Given the description of an element on the screen output the (x, y) to click on. 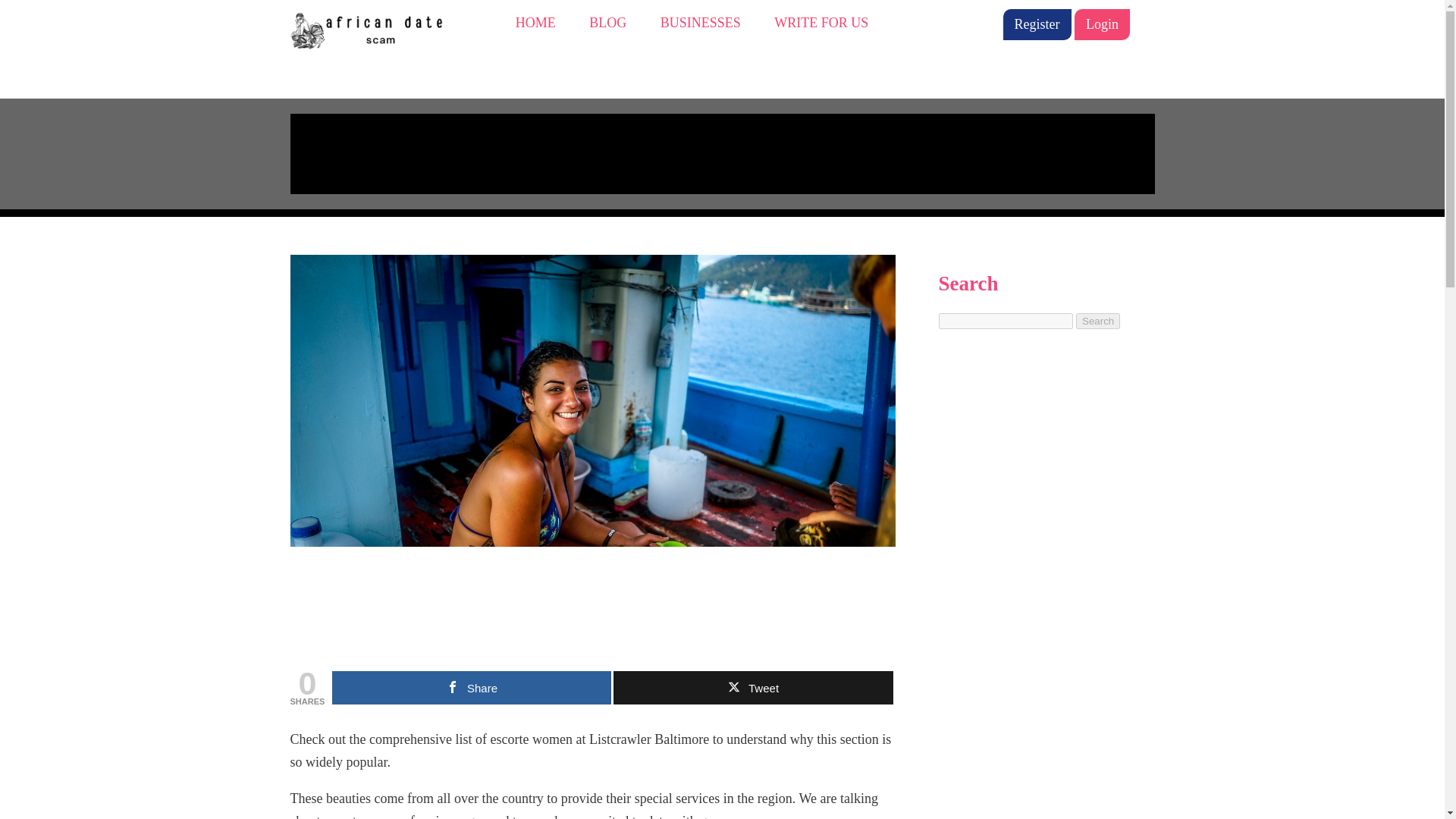
Search (1097, 320)
AfricanDate Scam (370, 27)
Share (471, 687)
BUSINESSES (701, 22)
BLOG (607, 22)
Login (1101, 24)
Register (1036, 24)
Tweet (752, 687)
HOME (535, 22)
Search (1097, 320)
